Given the description of an element on the screen output the (x, y) to click on. 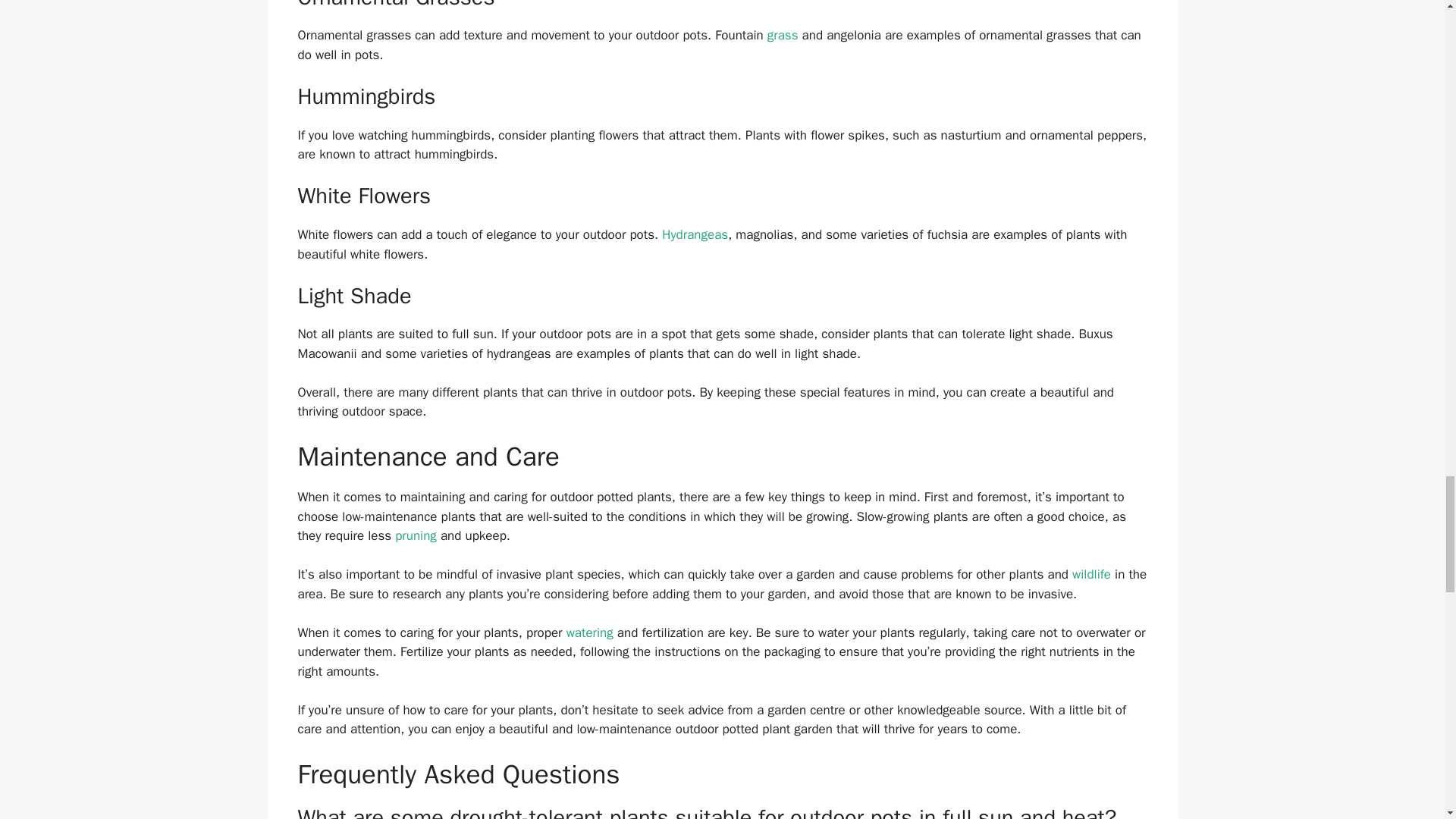
Hydrangeas (695, 234)
grass (782, 35)
pruning (415, 535)
wildlife (1090, 574)
watering (589, 632)
